Given the description of an element on the screen output the (x, y) to click on. 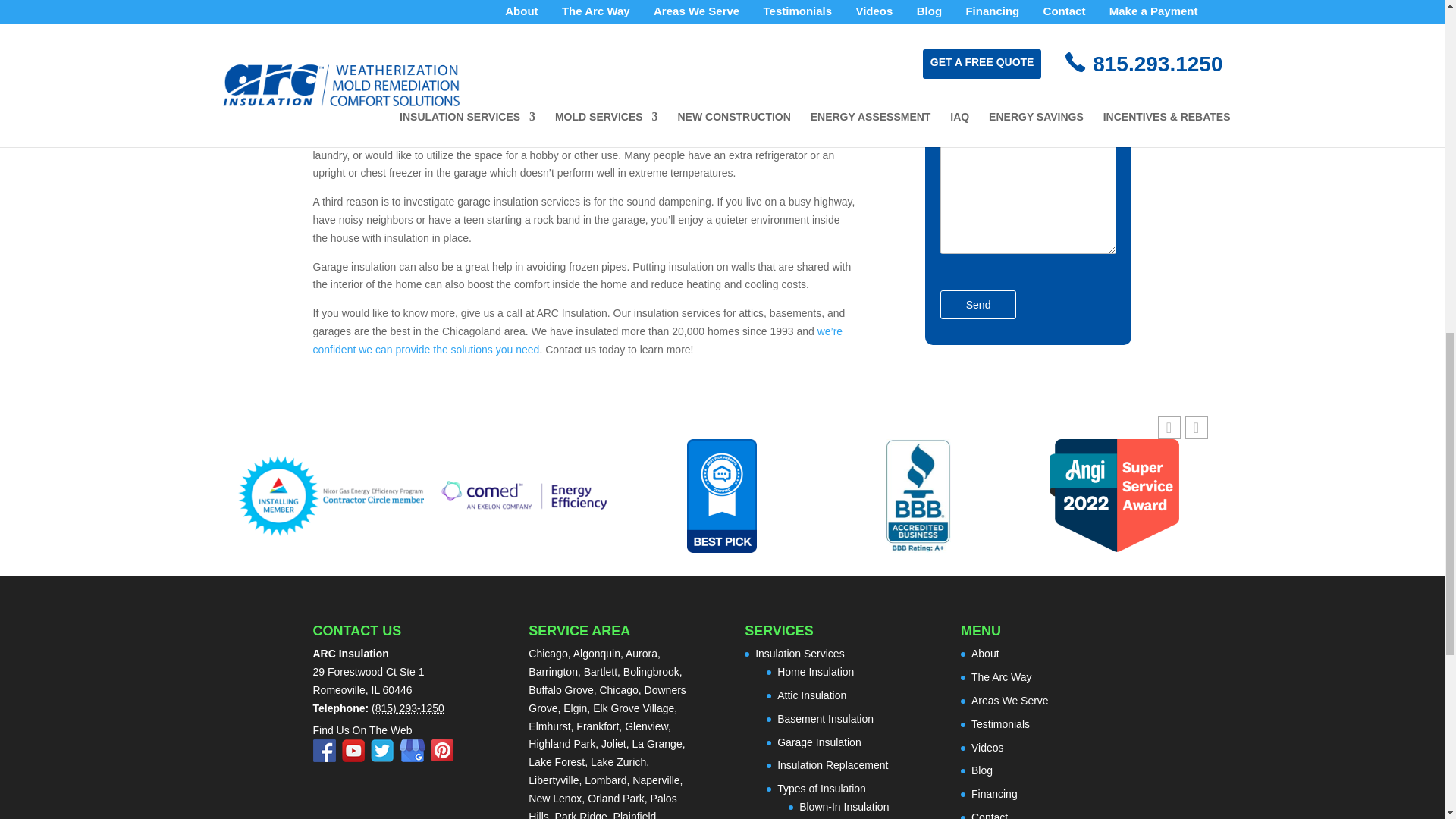
Send (978, 304)
BBB (918, 495)
ComEd (526, 494)
Best Pick (722, 495)
Angi 2022 (1114, 495)
Nicor Gas (329, 495)
